Given the description of an element on the screen output the (x, y) to click on. 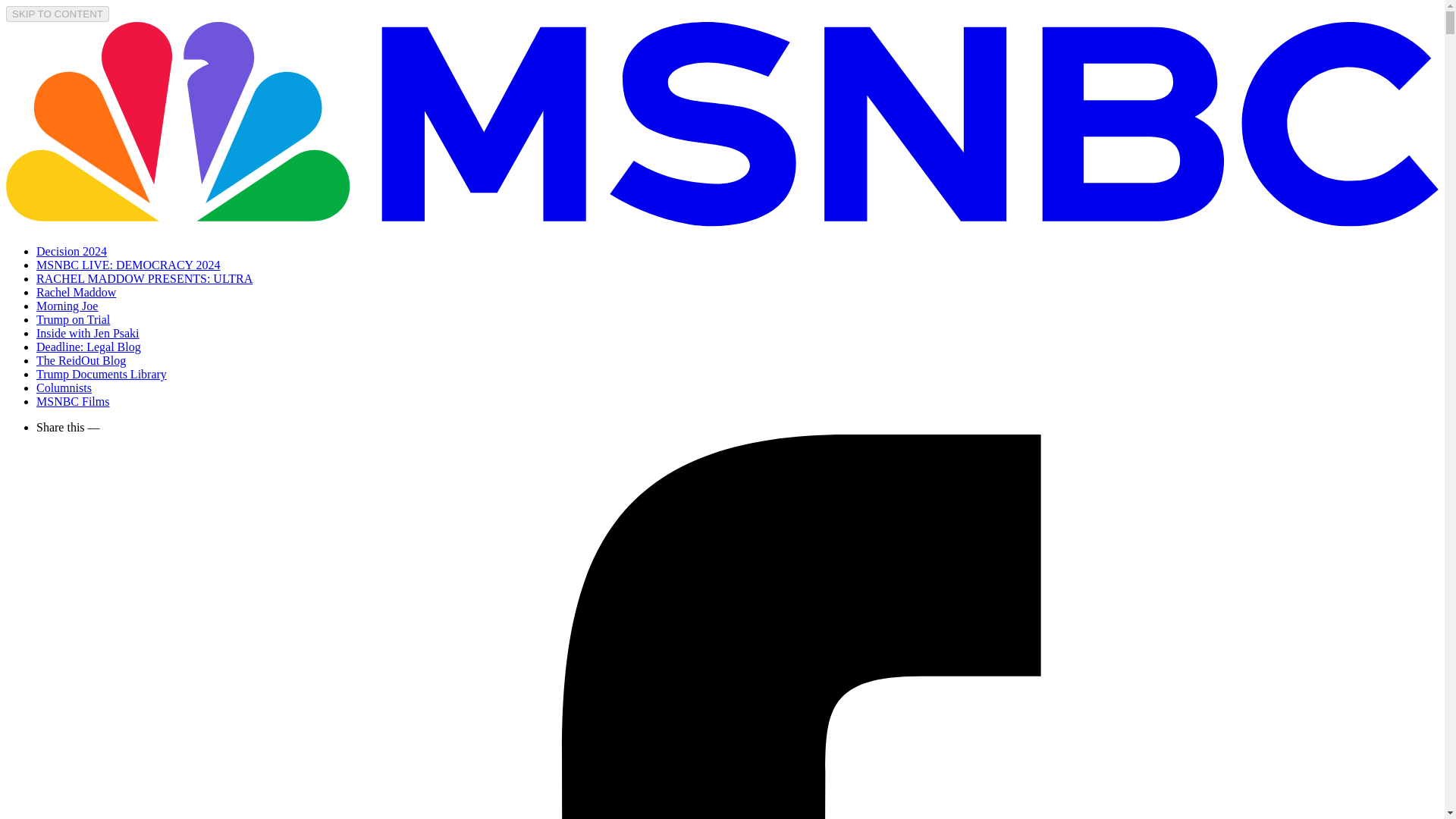
Columnists (63, 387)
The ReidOut Blog (80, 359)
Trump Documents Library (101, 373)
Rachel Maddow (76, 291)
Inside with Jen Psaki (87, 332)
Trump on Trial (73, 318)
SKIP TO CONTENT (57, 13)
RACHEL MADDOW PRESENTS: ULTRA (143, 278)
Morning Joe (66, 305)
MSNBC LIVE: DEMOCRACY 2024 (128, 264)
